Given the description of an element on the screen output the (x, y) to click on. 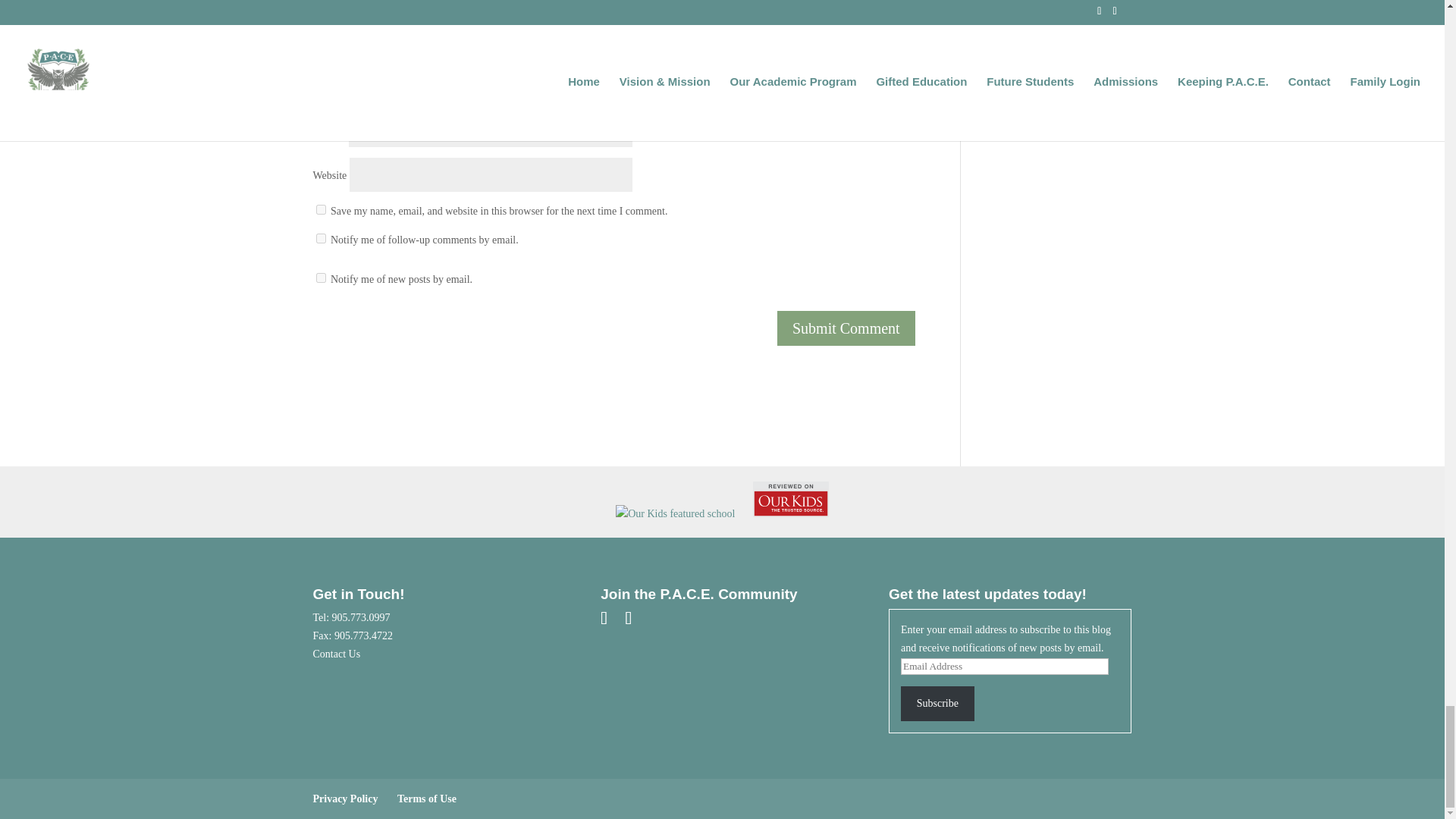
subscribe (319, 261)
Submit Comment (845, 351)
yes (319, 233)
subscribe (319, 301)
Submit Comment (845, 351)
